Given the description of an element on the screen output the (x, y) to click on. 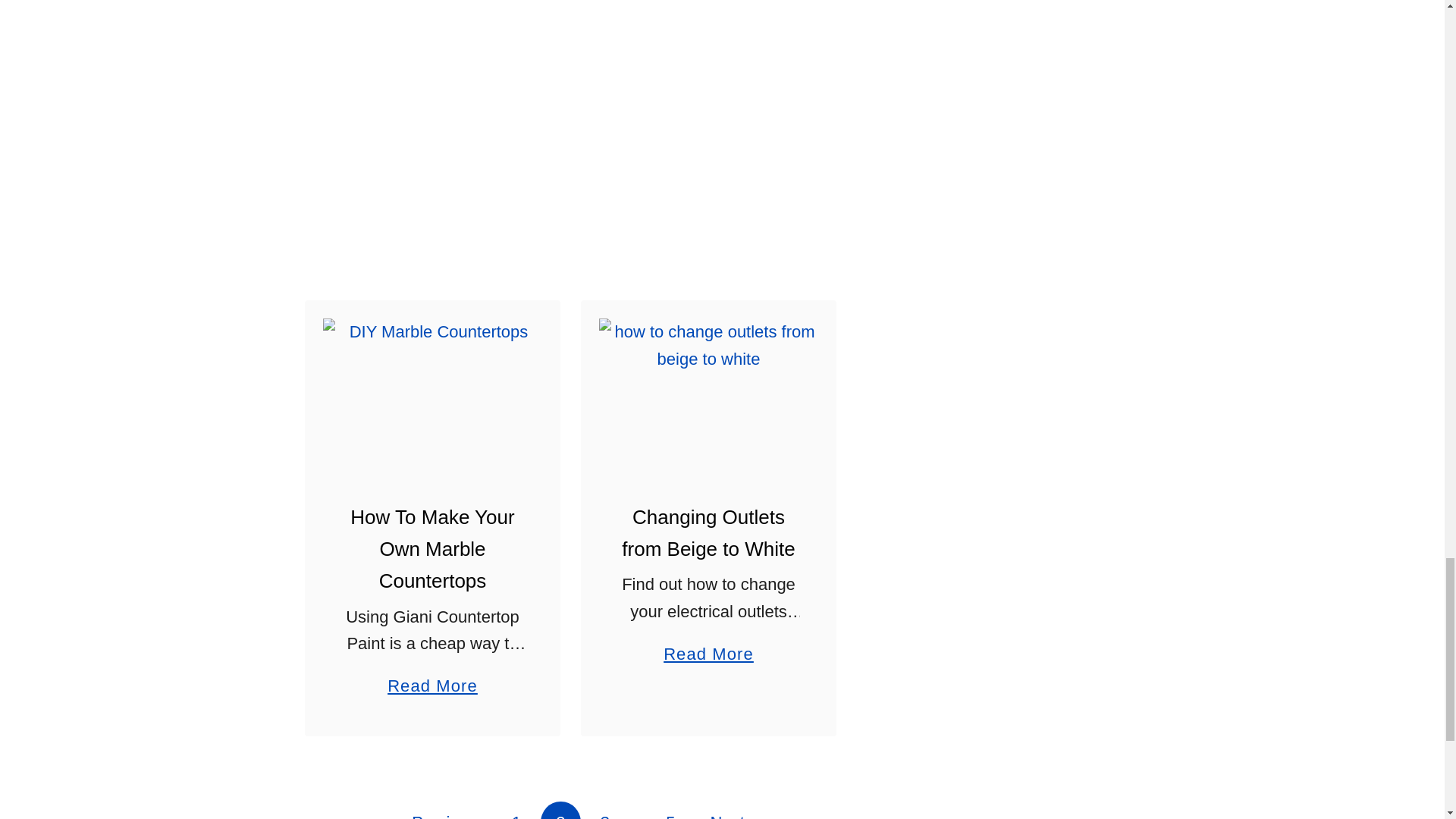
Changing Outlets from Beige to White (708, 391)
How To Make Your Own Marble Countertops (432, 391)
